Given the description of an element on the screen output the (x, y) to click on. 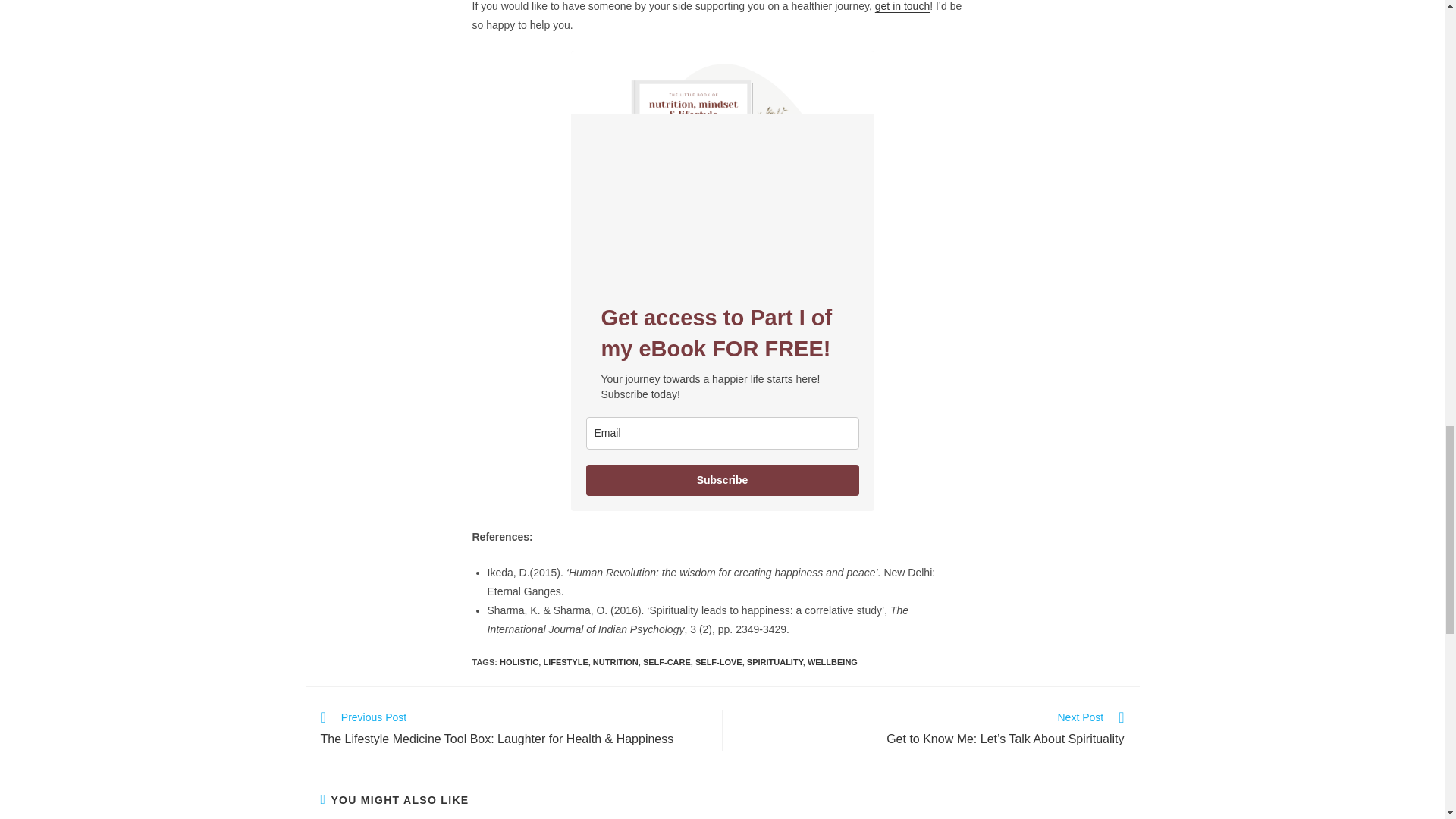
get in touch (902, 6)
NUTRITION (615, 661)
WELLBEING (832, 661)
HOLISTIC (518, 661)
SPIRITUALITY (774, 661)
LIFESTYLE (565, 661)
SELF-LOVE (718, 661)
Subscribe (722, 480)
SELF-CARE (666, 661)
